Given the description of an element on the screen output the (x, y) to click on. 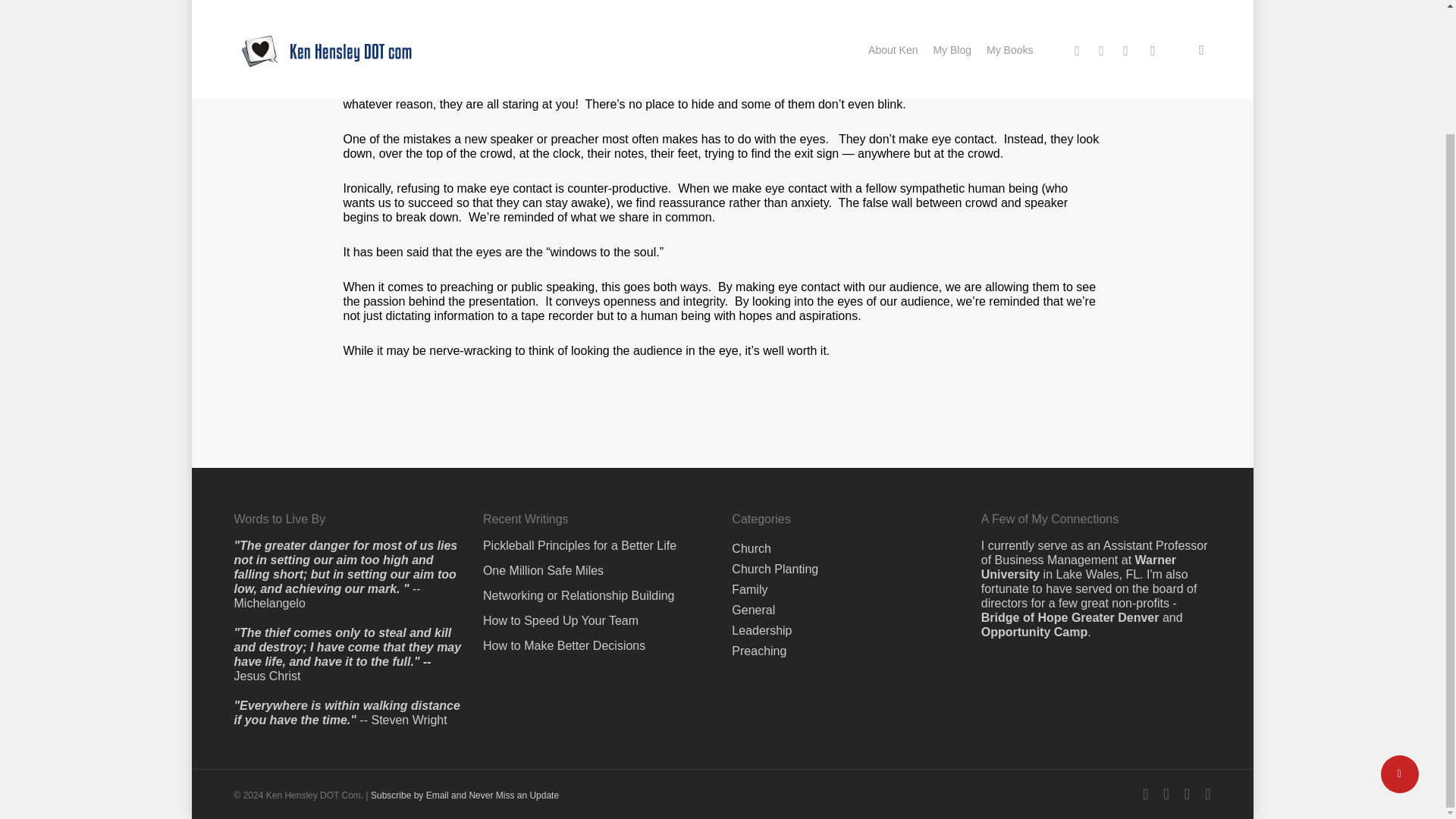
Opportunity Camp (1034, 481)
Bridge of Hope Greater Denver (1069, 468)
Preaching (331, 10)
Church (751, 399)
Posts by Ken (262, 10)
No Comments (1140, 19)
Family (749, 440)
Warner University (1078, 417)
Subscribe by Email and Never Miss an Update (465, 645)
How to Speed Up Your Team (598, 471)
Leadership (762, 481)
General (753, 460)
Ken (262, 10)
Preaching (759, 501)
Networking or Relationship Building (598, 445)
